Given the description of an element on the screen output the (x, y) to click on. 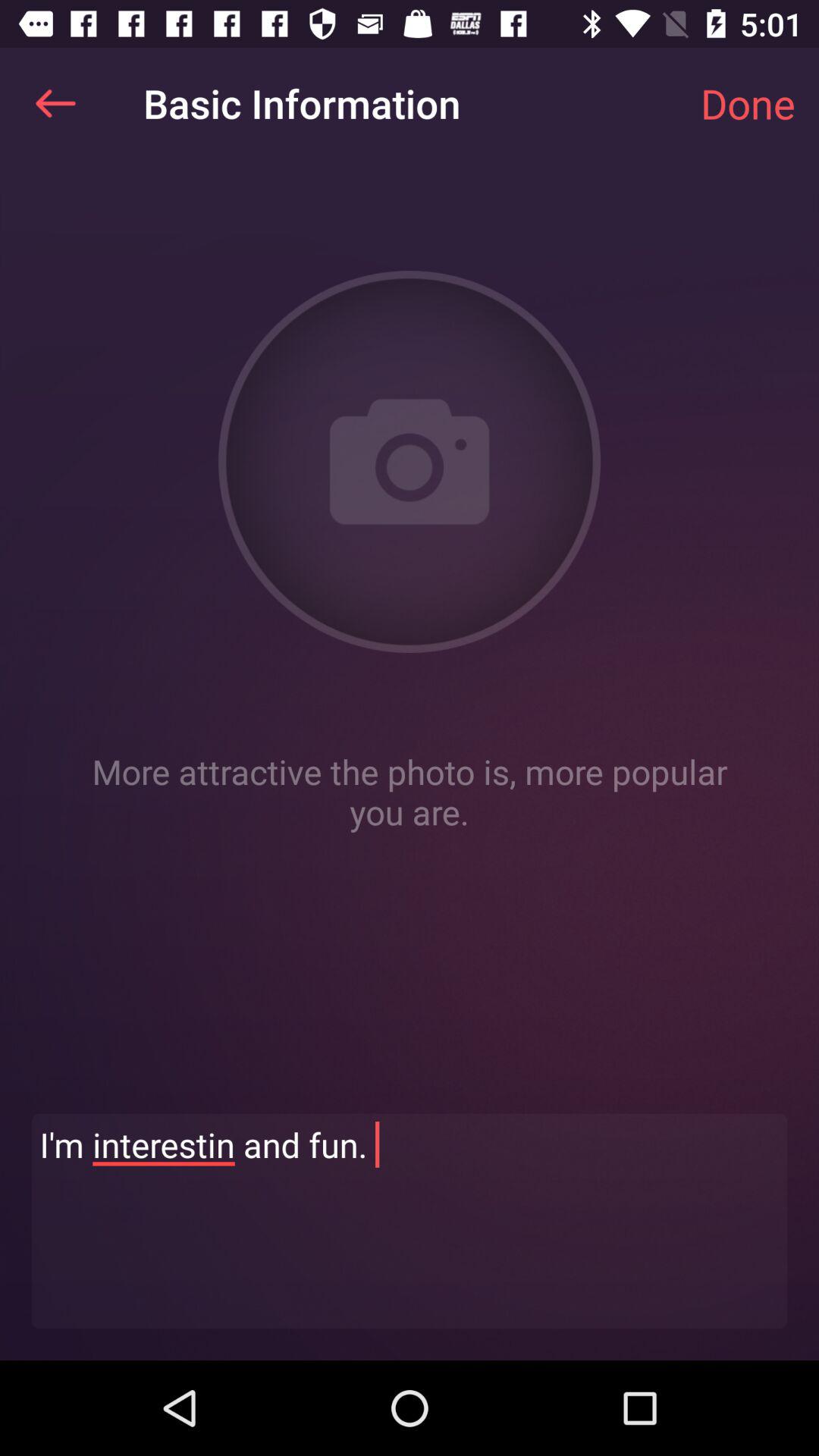
press the icon below the more attractive the icon (409, 1220)
